Given the description of an element on the screen output the (x, y) to click on. 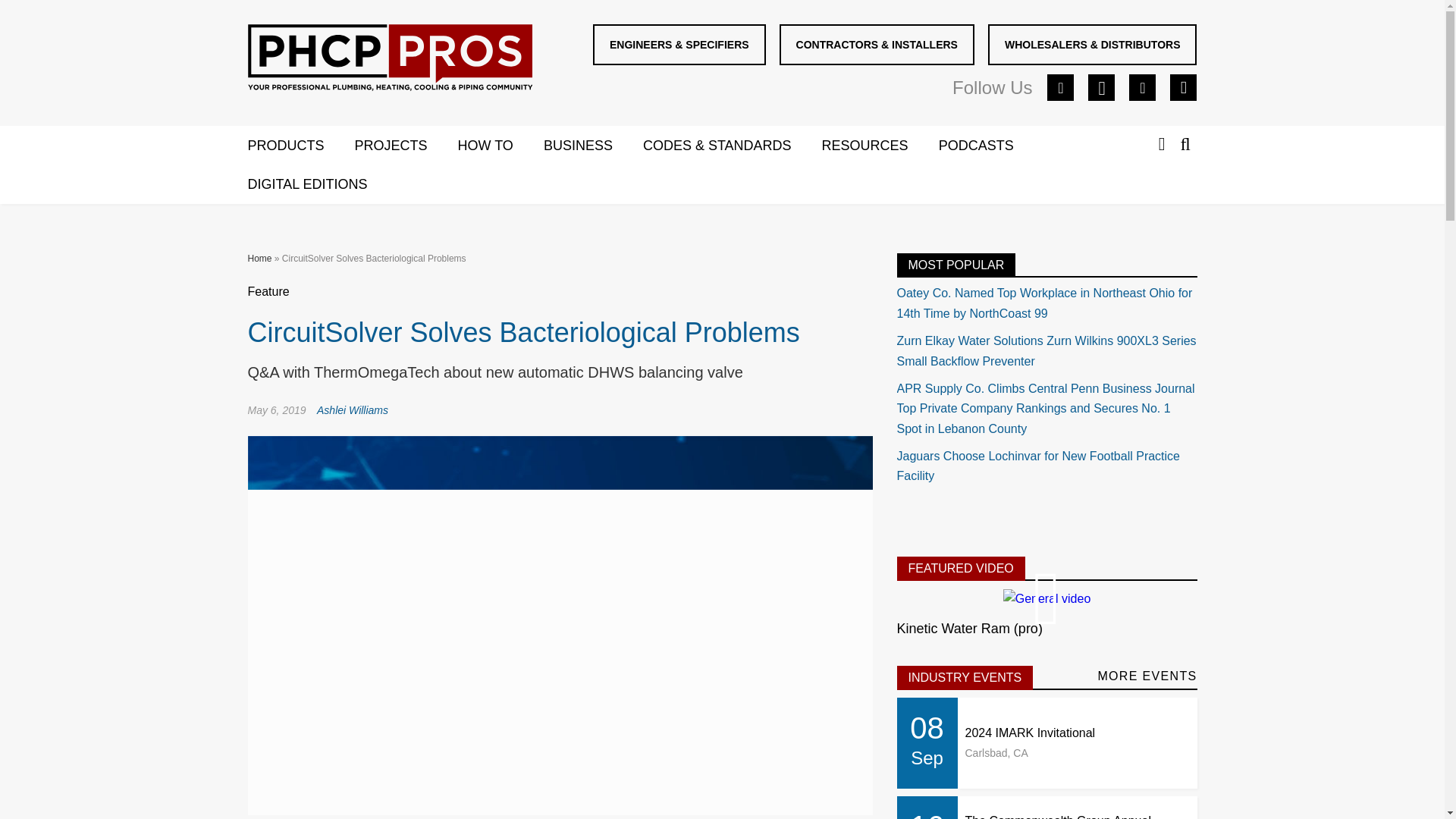
logo (389, 60)
logo (389, 57)
PRODUCTS (300, 146)
HOW TO (500, 146)
PROJECTS (406, 146)
BUSINESS (593, 146)
